Given the description of an element on the screen output the (x, y) to click on. 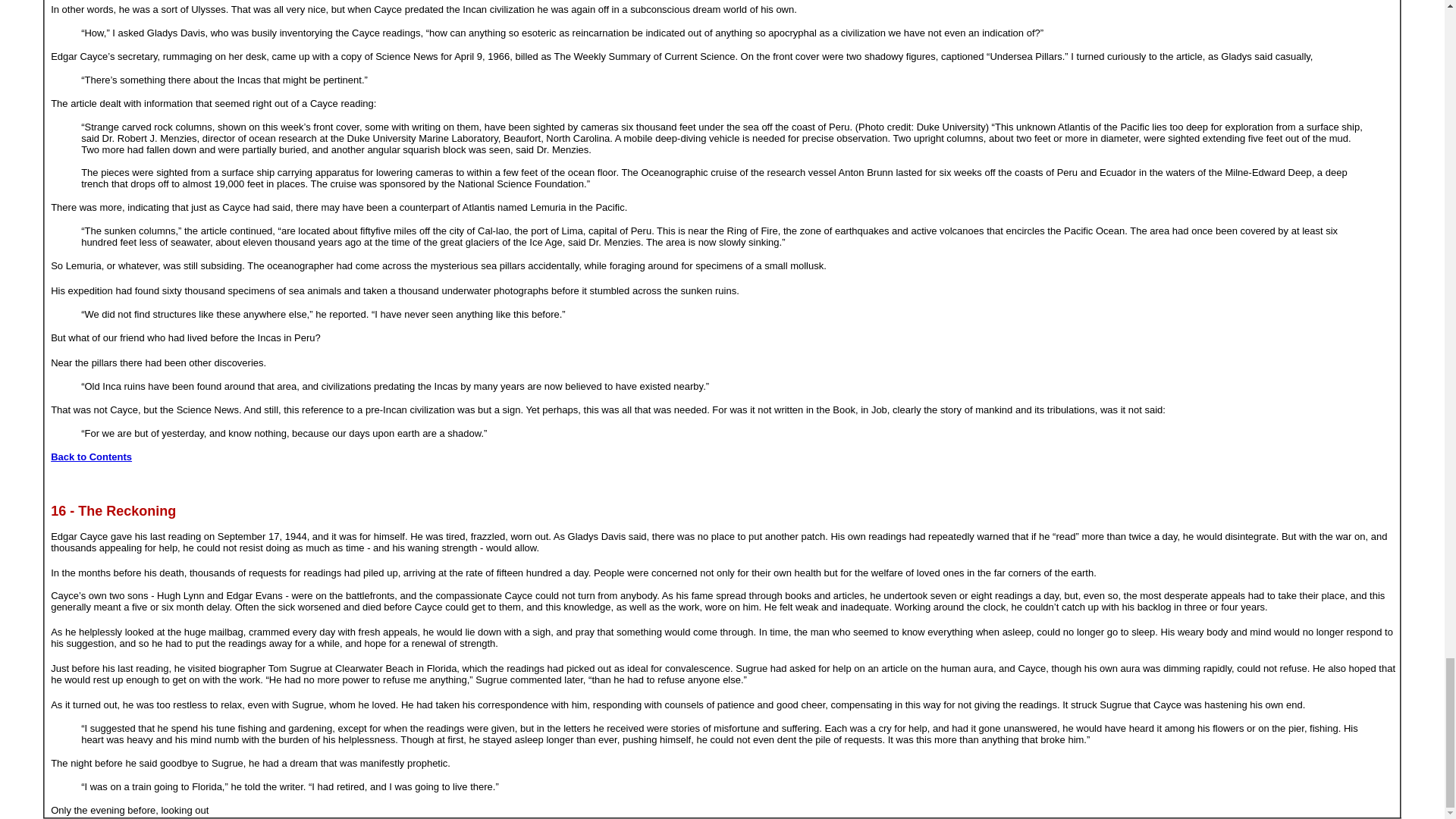
Back to Contents (91, 456)
